Given the description of an element on the screen output the (x, y) to click on. 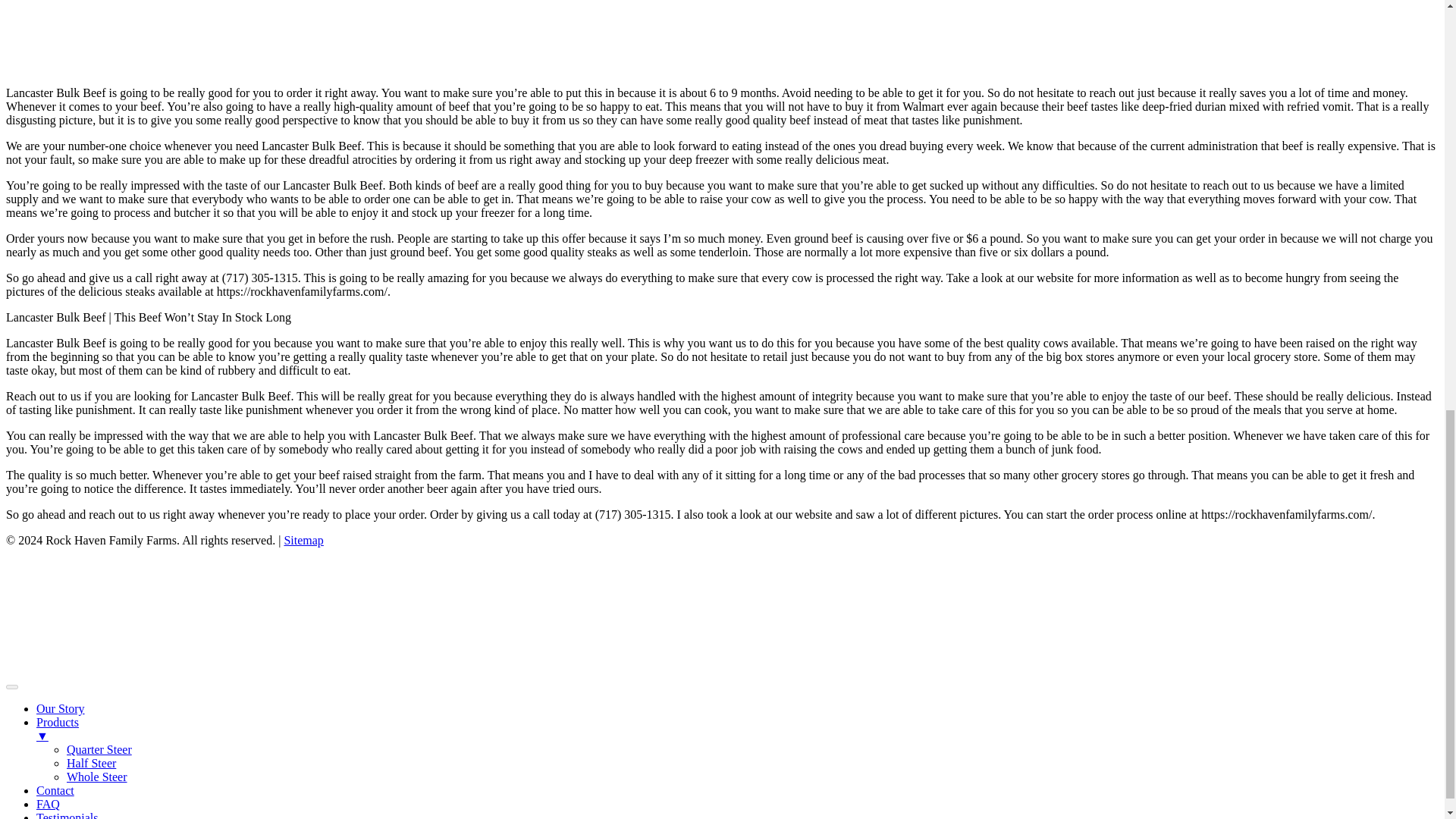
Our Story (60, 707)
FAQ (47, 803)
Contact (55, 789)
Whole Steer (97, 776)
Half Steer (91, 762)
Sitemap (303, 540)
Quarter Steer (99, 748)
